Given the description of an element on the screen output the (x, y) to click on. 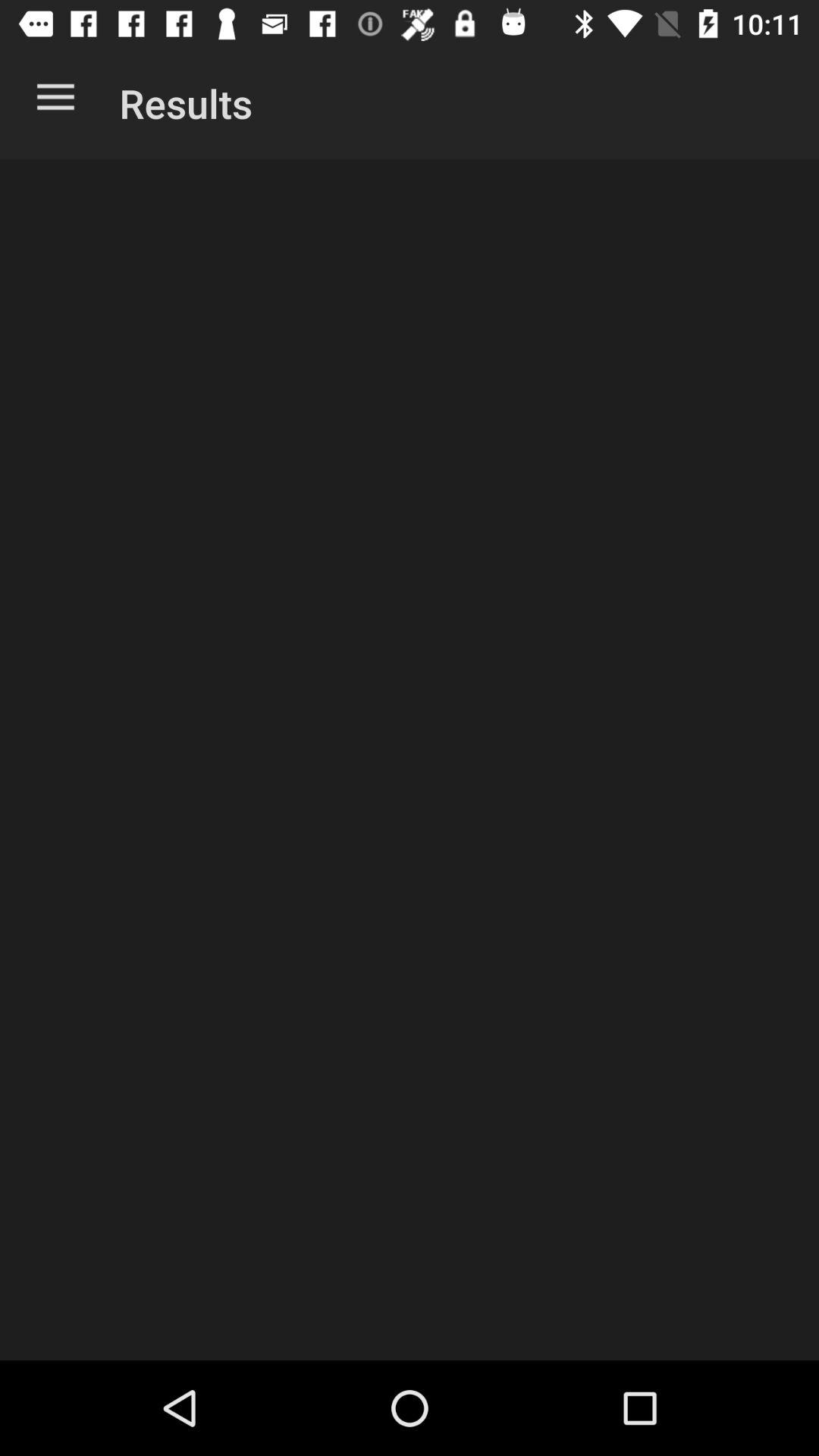
press the app to the left of results icon (55, 100)
